Given the description of an element on the screen output the (x, y) to click on. 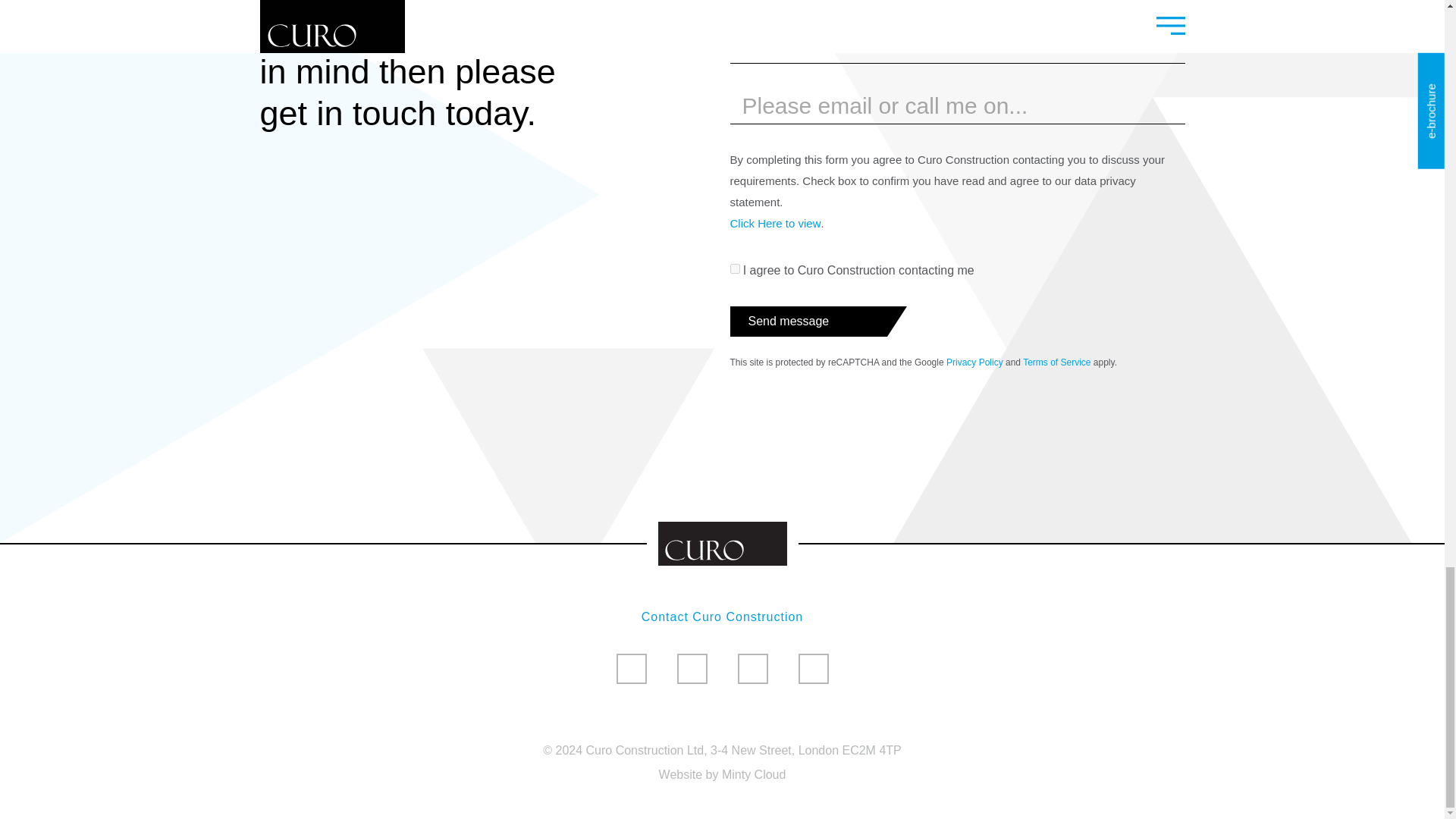
Terms of Service (1056, 362)
Minty Cloud (754, 774)
Click Here to view (775, 223)
Send message (807, 321)
Minty Cloud (754, 774)
Privacy Policy (974, 362)
on (734, 268)
